Given the description of an element on the screen output the (x, y) to click on. 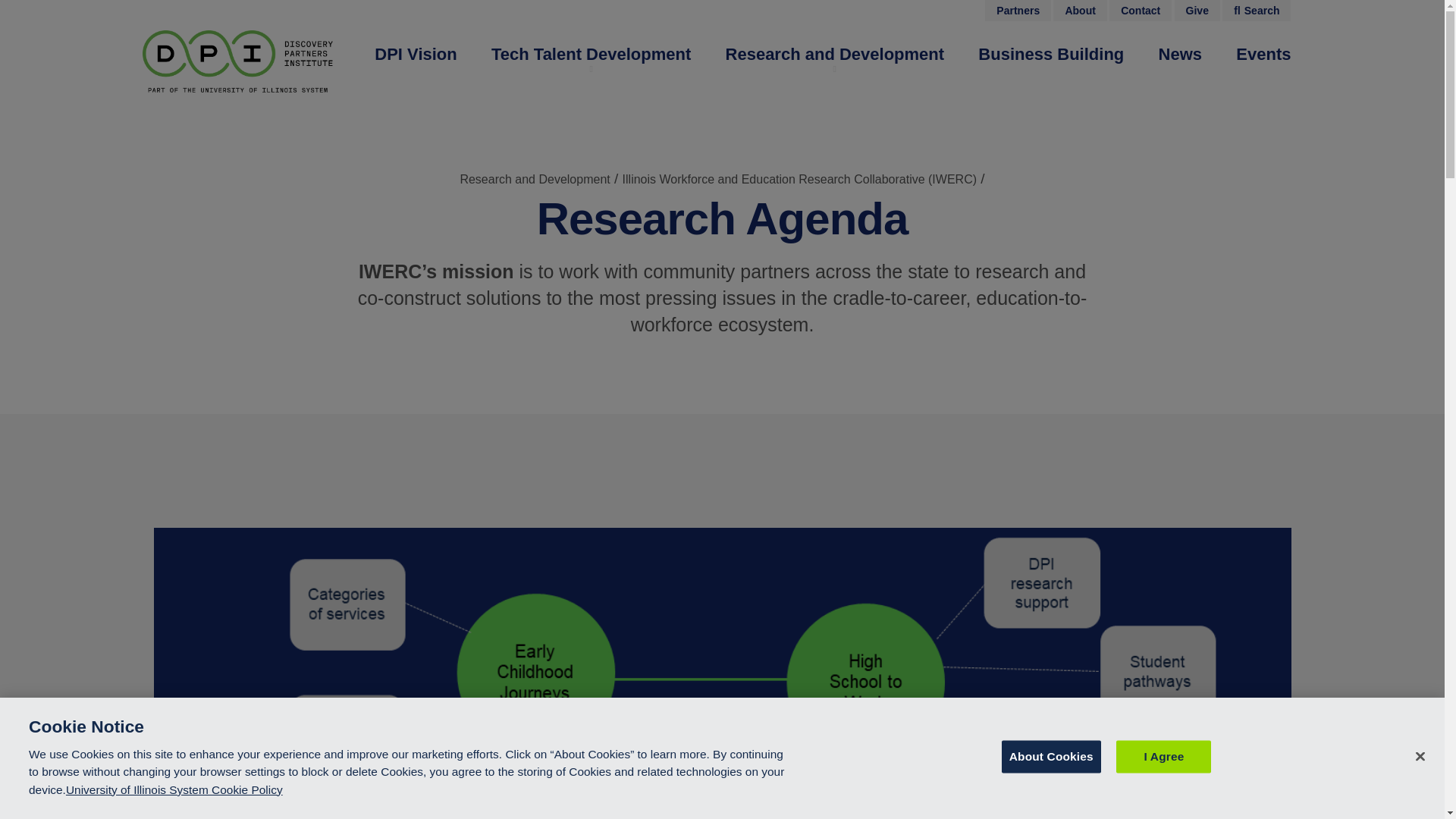
Tech Talent Development (591, 54)
News (1180, 54)
About (1079, 10)
Business Building (1051, 54)
Events (1263, 54)
Research and Development (834, 54)
Search (1256, 10)
DPI Vision (415, 54)
Give (1197, 10)
Contact (1140, 10)
Partners (1018, 10)
Search (1256, 10)
Research and Development (834, 54)
DPI Vision (415, 54)
About (1079, 10)
